Given the description of an element on the screen output the (x, y) to click on. 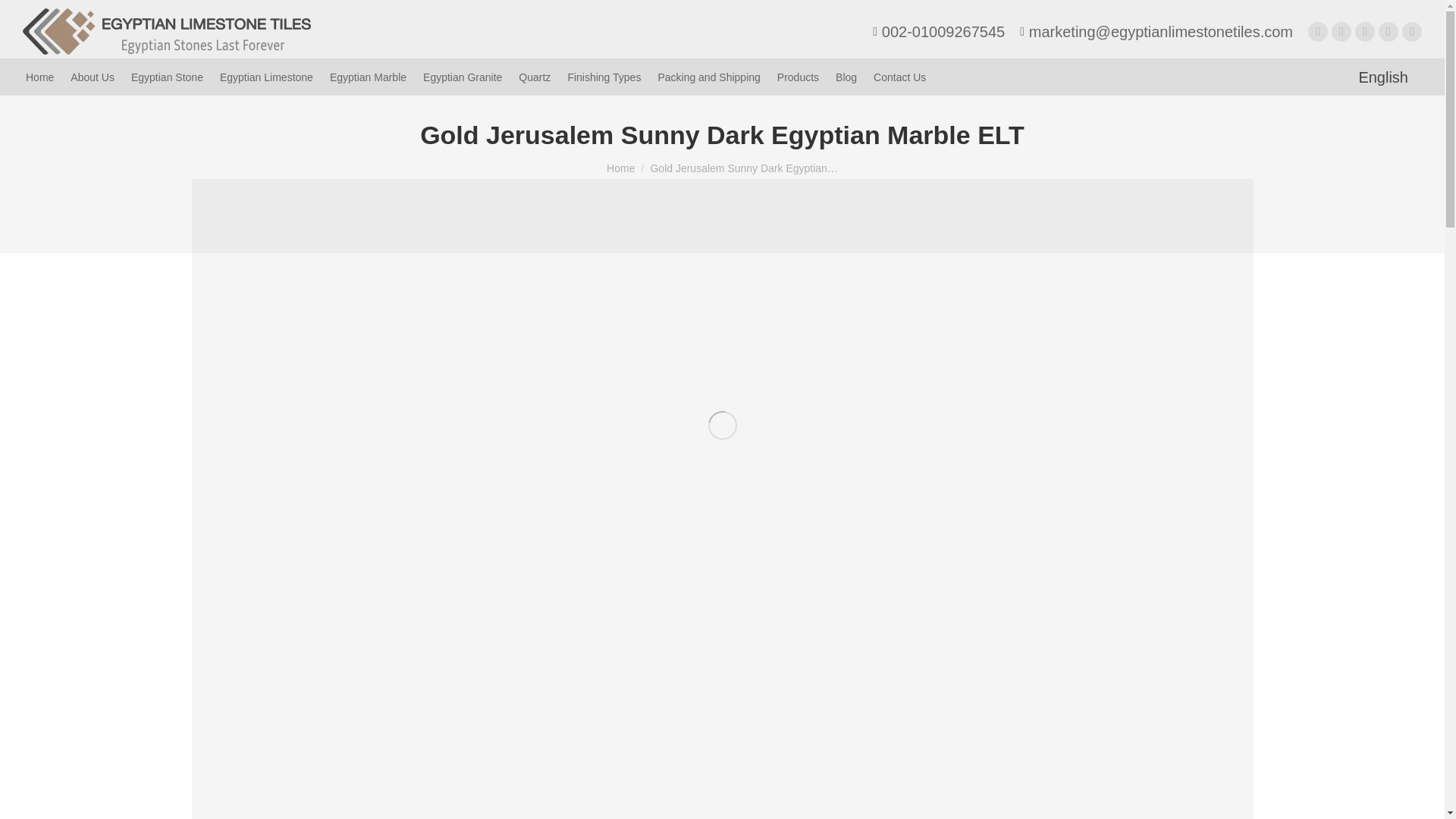
Facebook page opens in new window (1317, 31)
Finishing Types (603, 76)
Egyptian Marble (367, 76)
Products (798, 76)
002-01009267545 (938, 31)
Pinterest page opens in new window (1412, 31)
YouTube page opens in new window (1387, 31)
Instagram page opens in new window (1364, 31)
Packing and Shipping (707, 76)
